Given the description of an element on the screen output the (x, y) to click on. 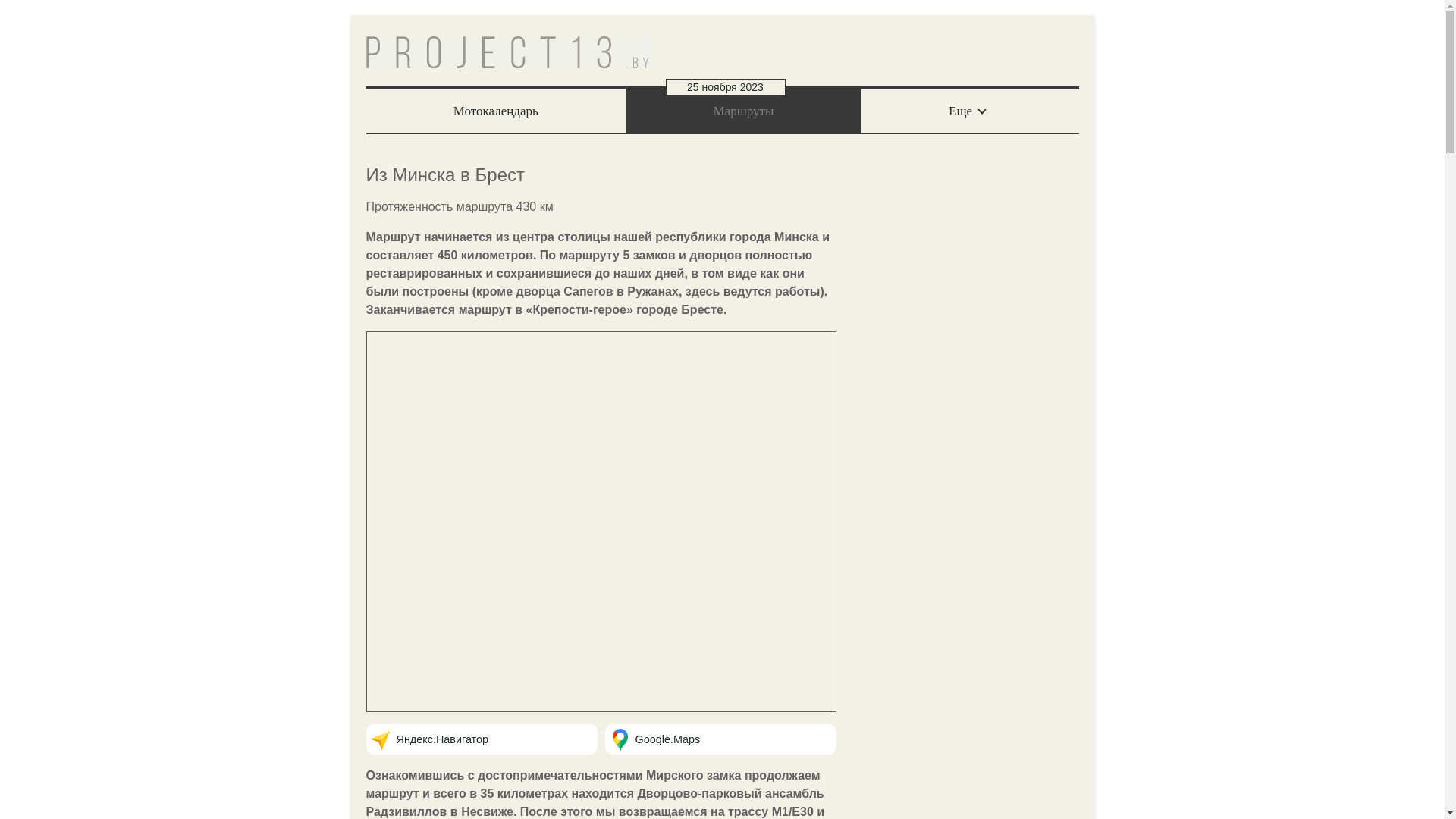
PROJECT13.by Element type: hover (507, 52)
Google.Maps Element type: text (667, 739)
